Given the description of an element on the screen output the (x, y) to click on. 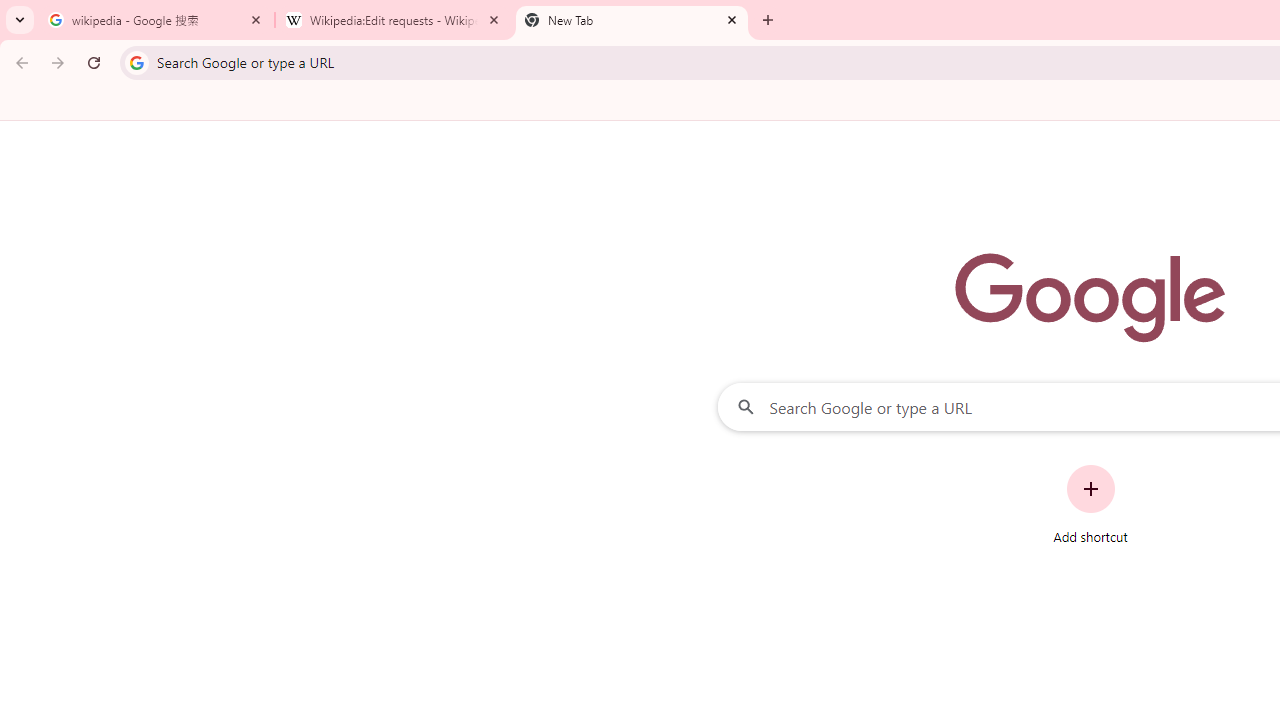
Wikipedia:Edit requests - Wikipedia (394, 20)
New Tab (632, 20)
Add shortcut (1090, 504)
